Given the description of an element on the screen output the (x, y) to click on. 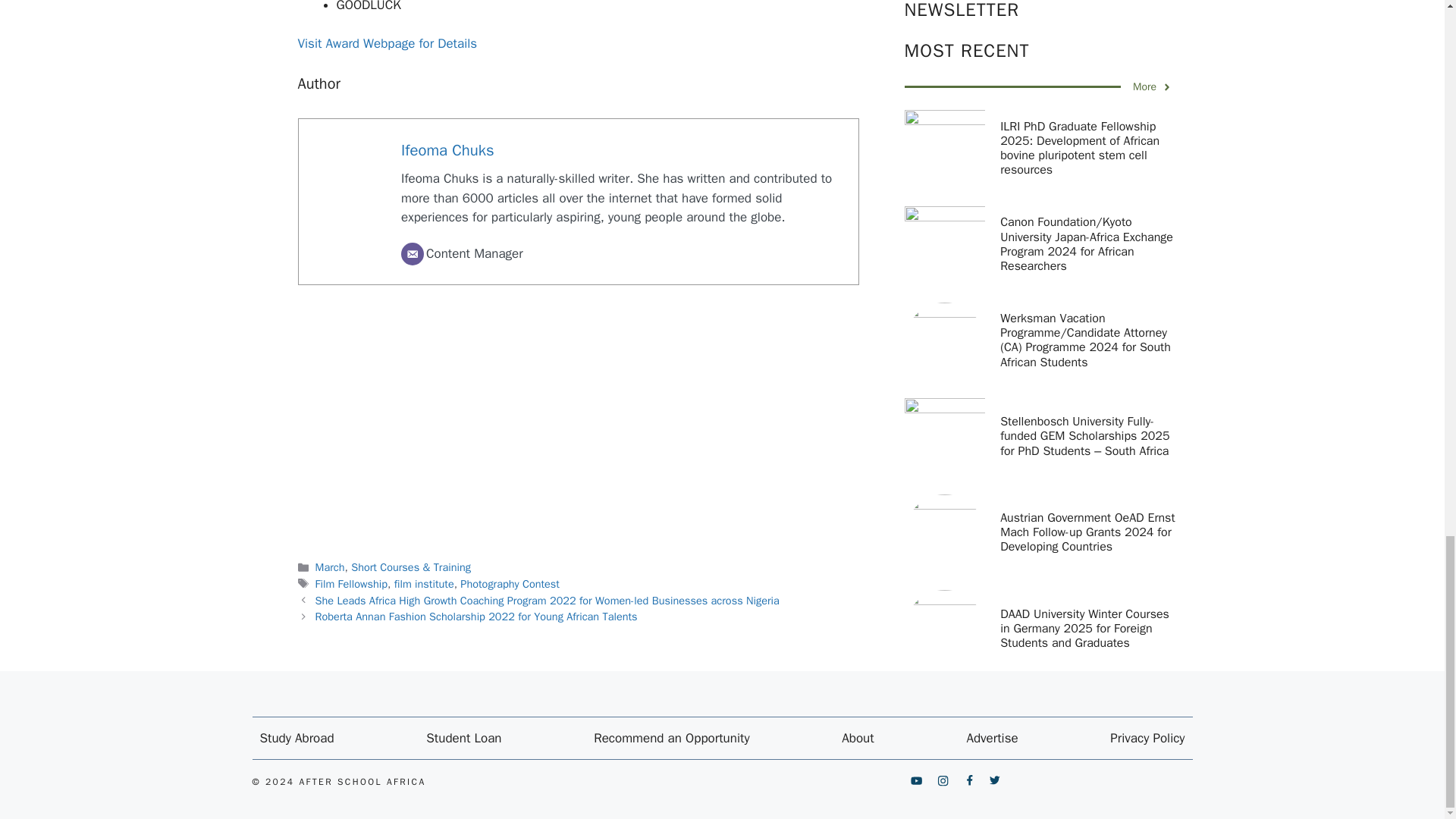
Ifeoma Chuks (448, 149)
